Given the description of an element on the screen output the (x, y) to click on. 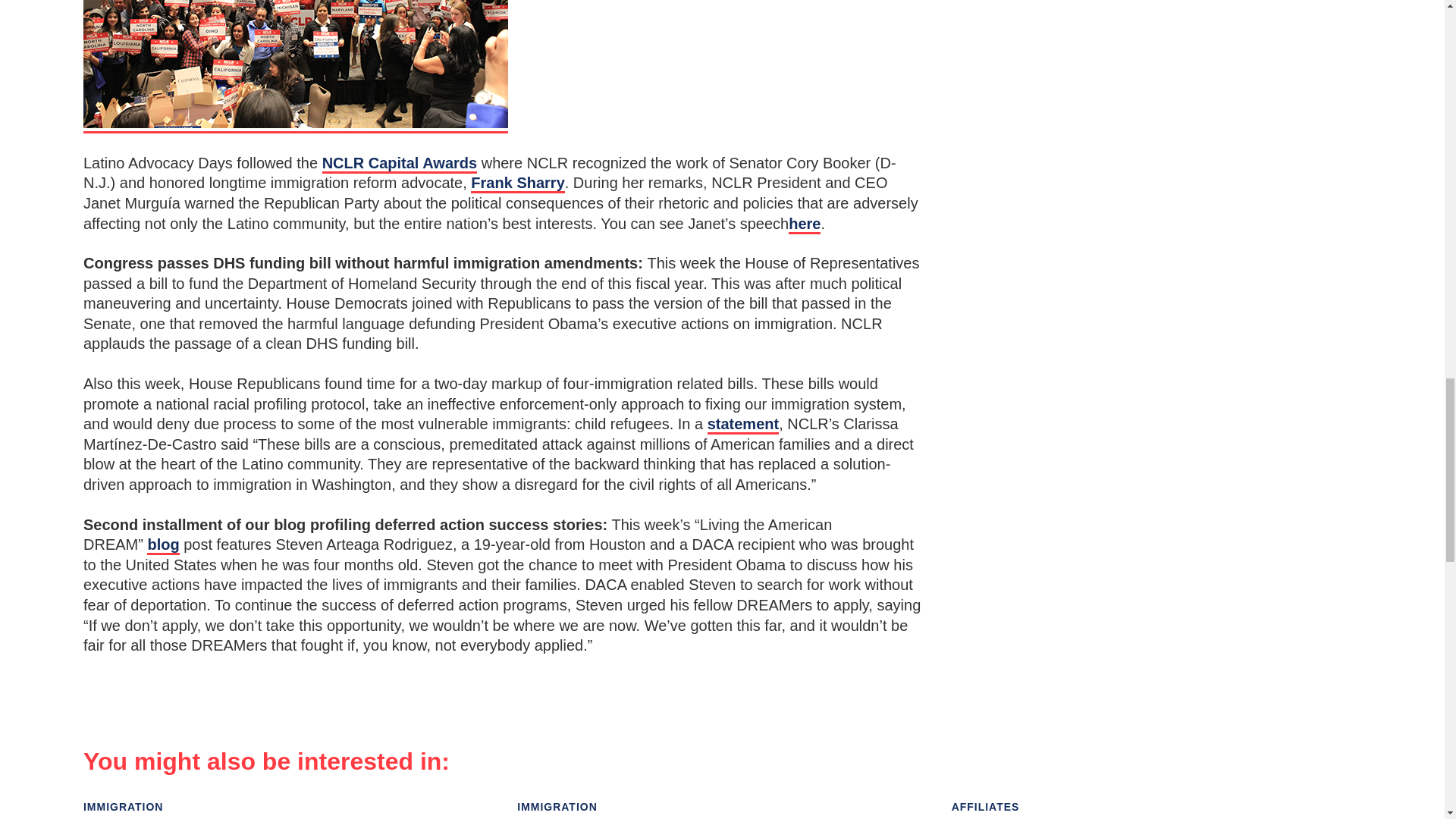
statement (742, 424)
Frank Sharry (517, 183)
here (805, 224)
blog (163, 545)
NCLR Capital Awards (399, 163)
